Given the description of an element on the screen output the (x, y) to click on. 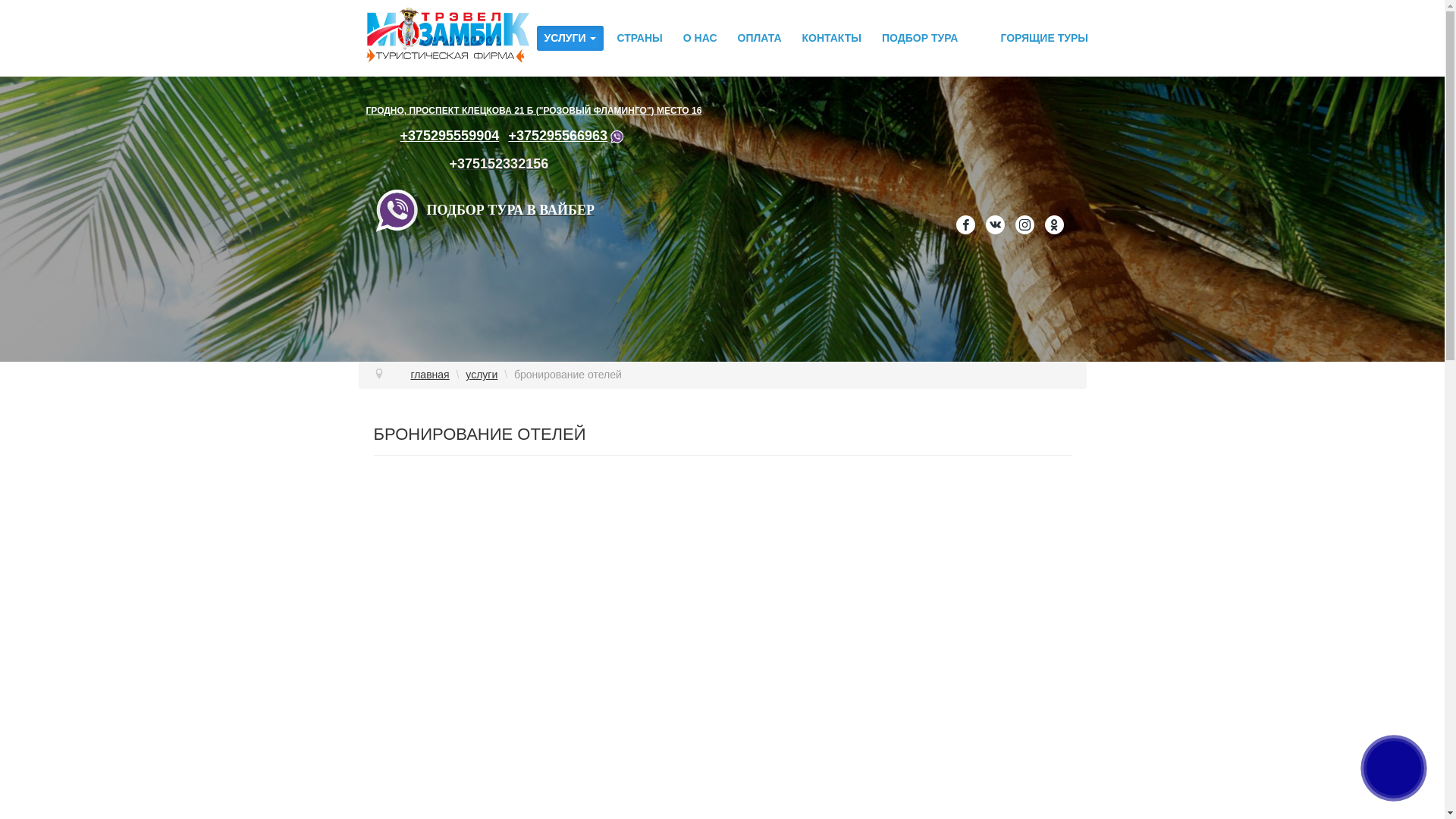
+375295559904 Element type: text (449, 135)
+375152332156 Element type: text (499, 163)
+375295566963 Element type: text (567, 135)
